Given the description of an element on the screen output the (x, y) to click on. 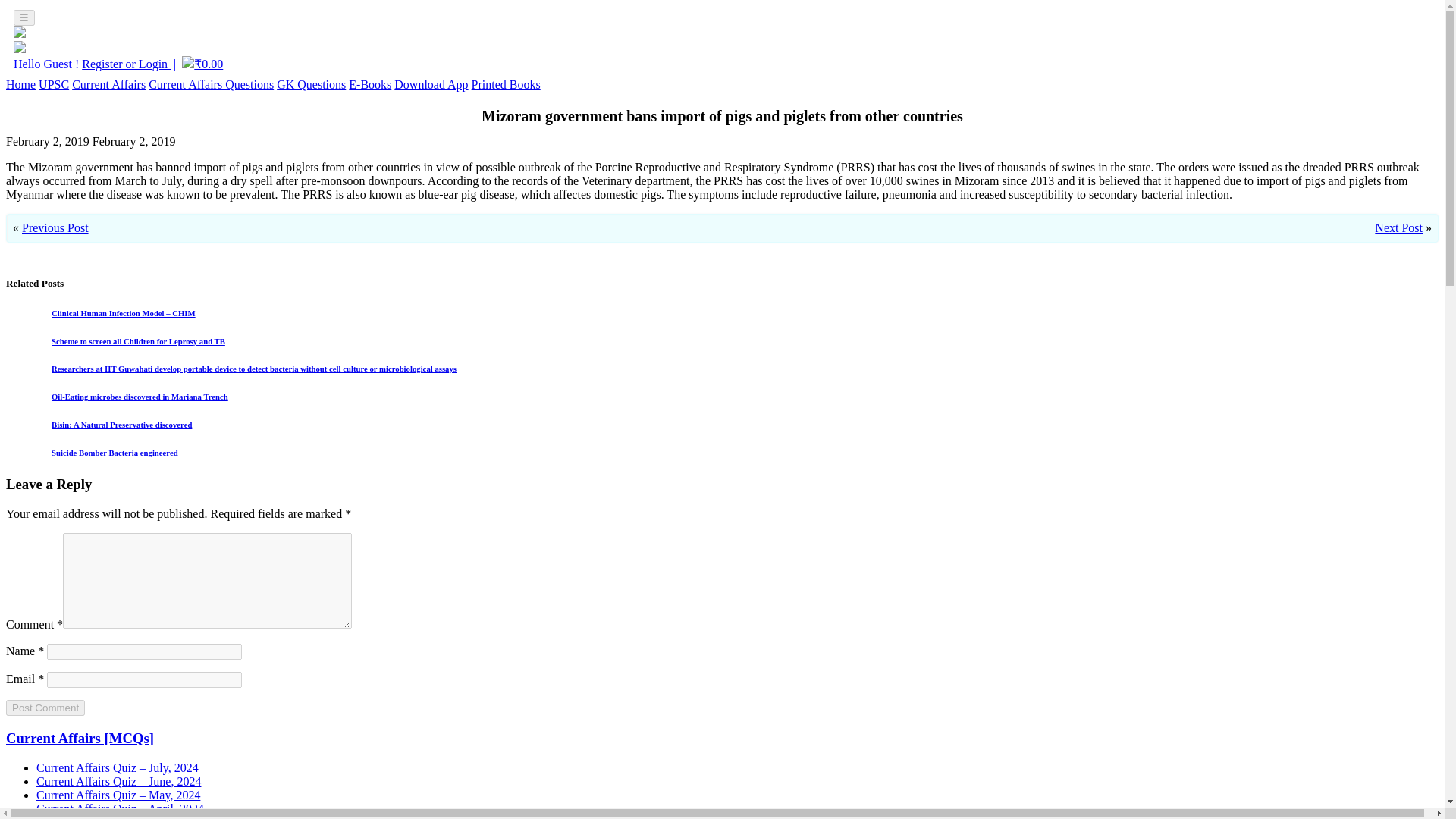
Oil-Eating microbes discovered in Mariana Trench (139, 396)
Next Post (1398, 227)
Home (19, 83)
Current Affairs Questions (210, 83)
Post Comment (44, 707)
Scheme to screen all Children for Leprosy and TB (137, 340)
Download App (430, 83)
Previous Post (54, 227)
Post Comment (44, 707)
Printed Books (505, 83)
Register or Login (125, 63)
Bisin: A Natural Preservative discovered (121, 424)
